Given the description of an element on the screen output the (x, y) to click on. 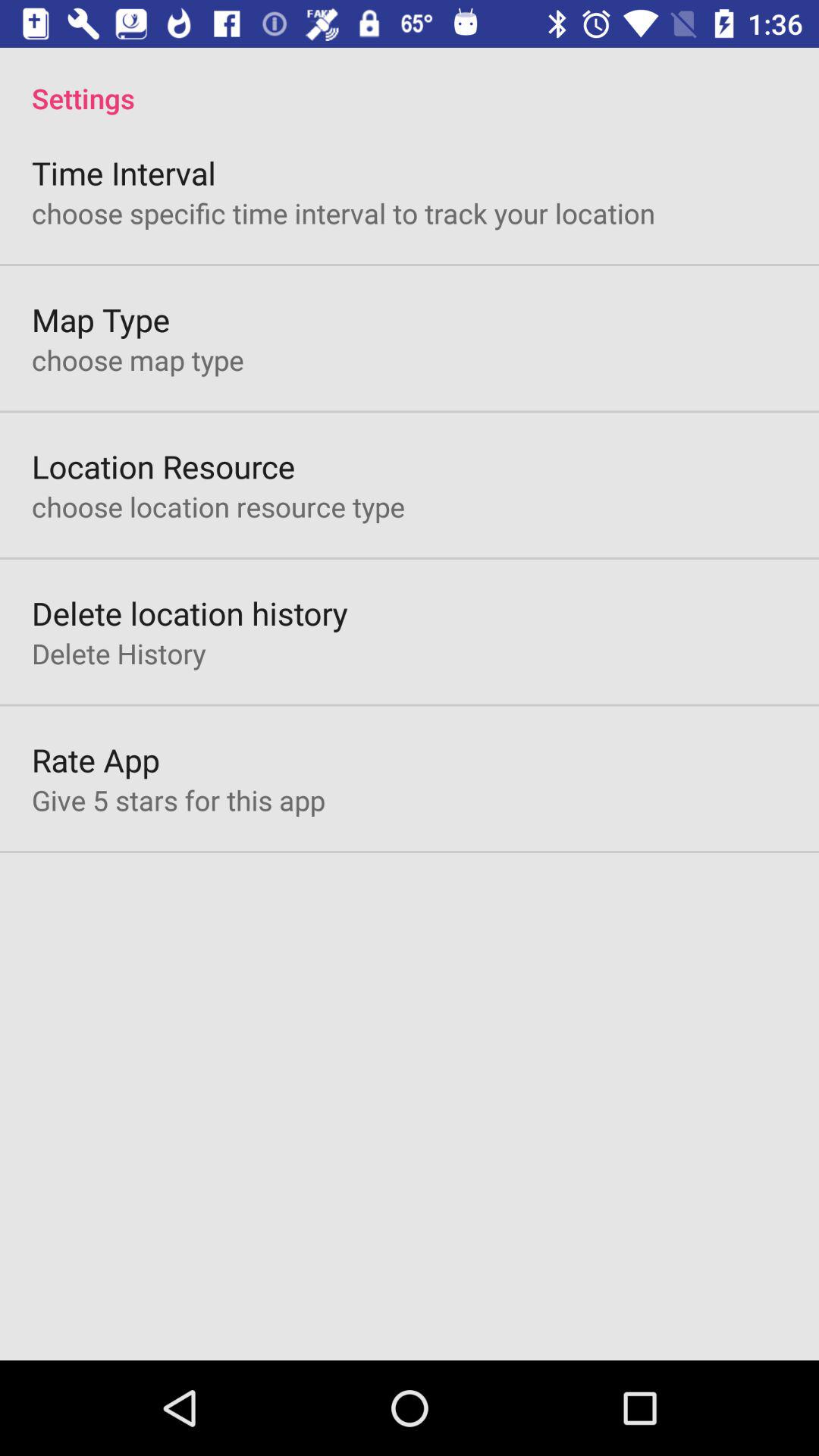
launch app above the map type item (343, 213)
